Given the description of an element on the screen output the (x, y) to click on. 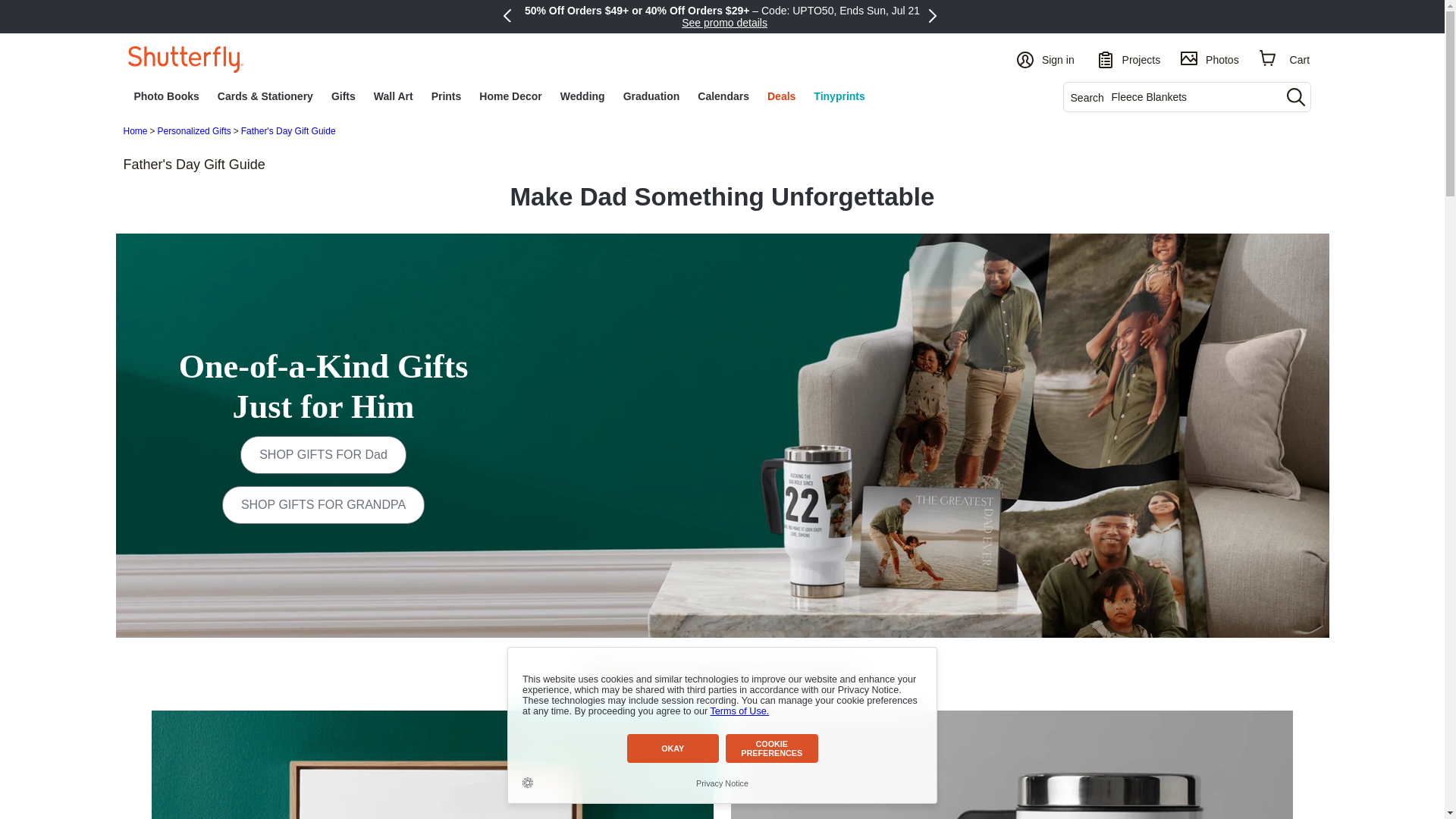
View, organize and edit your photos. (1209, 57)
Projects (1128, 57)
Photo Books (165, 96)
See promo details (724, 22)
Cart (1284, 58)
Go to the Shutterfly home page (185, 58)
Sign in (1045, 58)
Go to the Shutterfly home page (185, 57)
Photos (1209, 57)
